Given the description of an element on the screen output the (x, y) to click on. 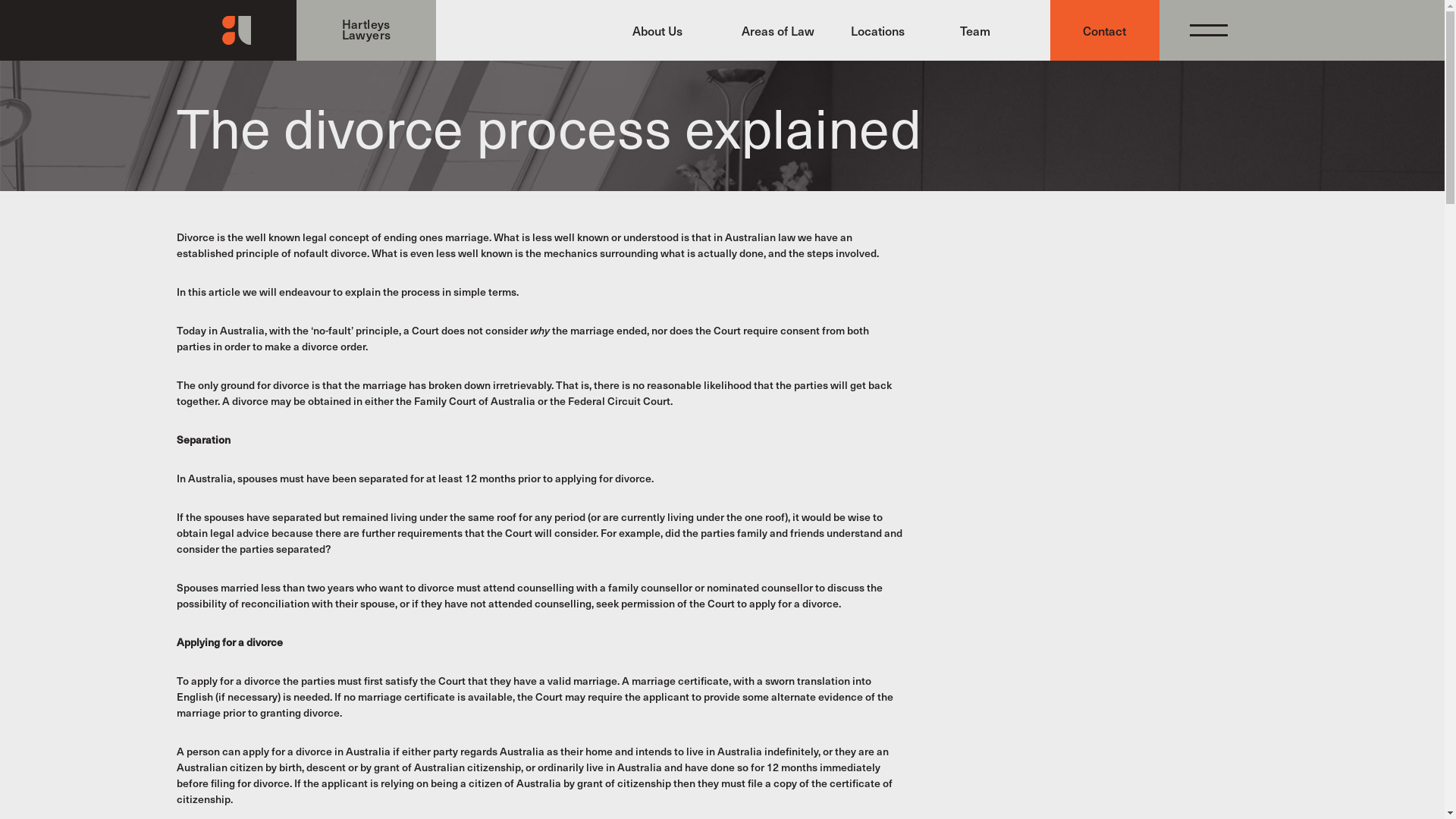
Search Element type: text (1143, 457)
Locations Element type: text (885, 30)
Areas of Law Element type: text (776, 30)
Contact Element type: text (1103, 30)
About Us Element type: text (666, 30)
Hartleys
Lawyers Element type: text (305, 30)
Team Element type: text (994, 30)
